Given the description of an element on the screen output the (x, y) to click on. 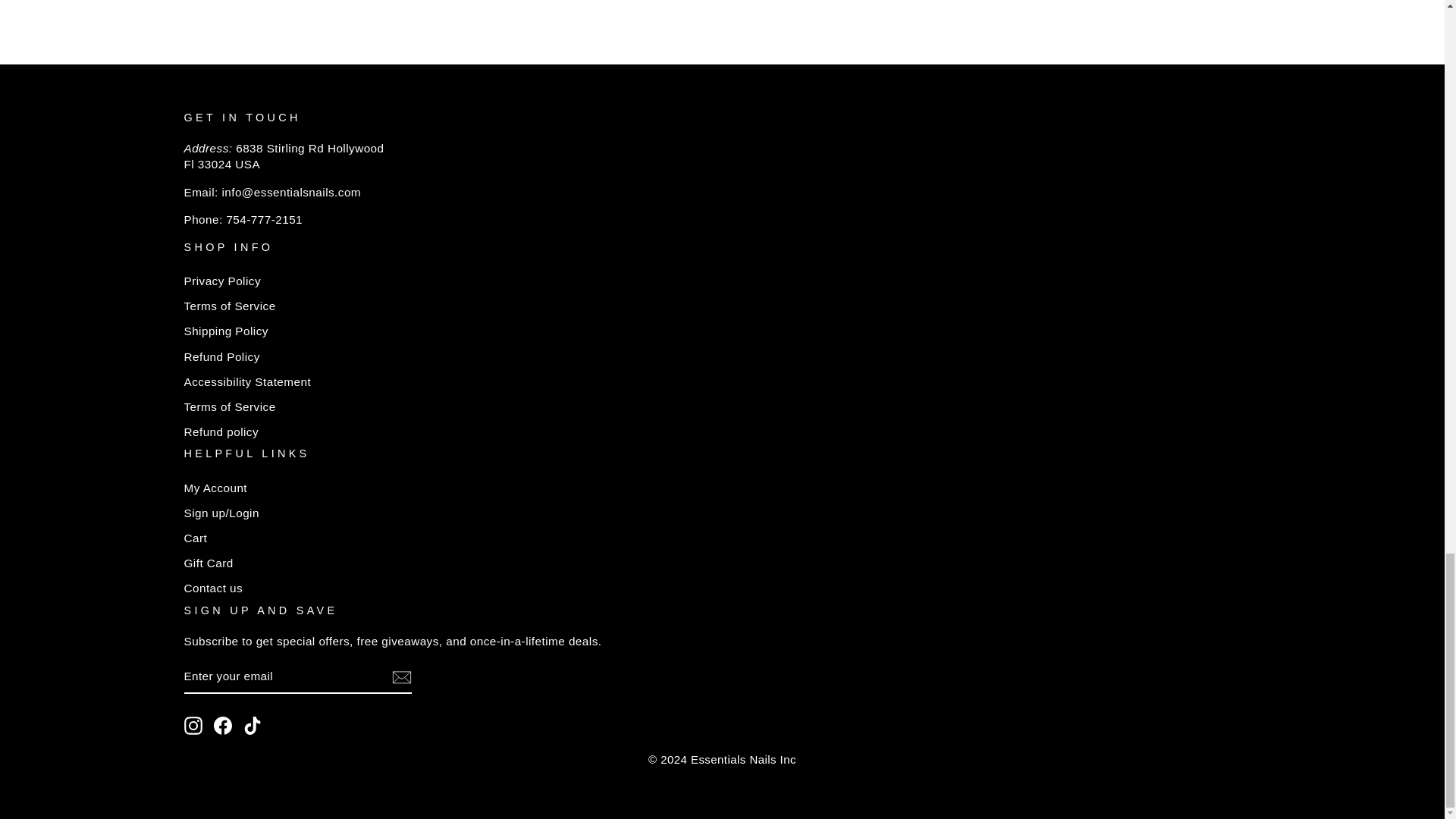
Essentials Nail Supply on Instagram (192, 725)
Essentials Nail Supply on Facebook (222, 725)
Essentials Nail Supply on TikTok (251, 725)
